Given the description of an element on the screen output the (x, y) to click on. 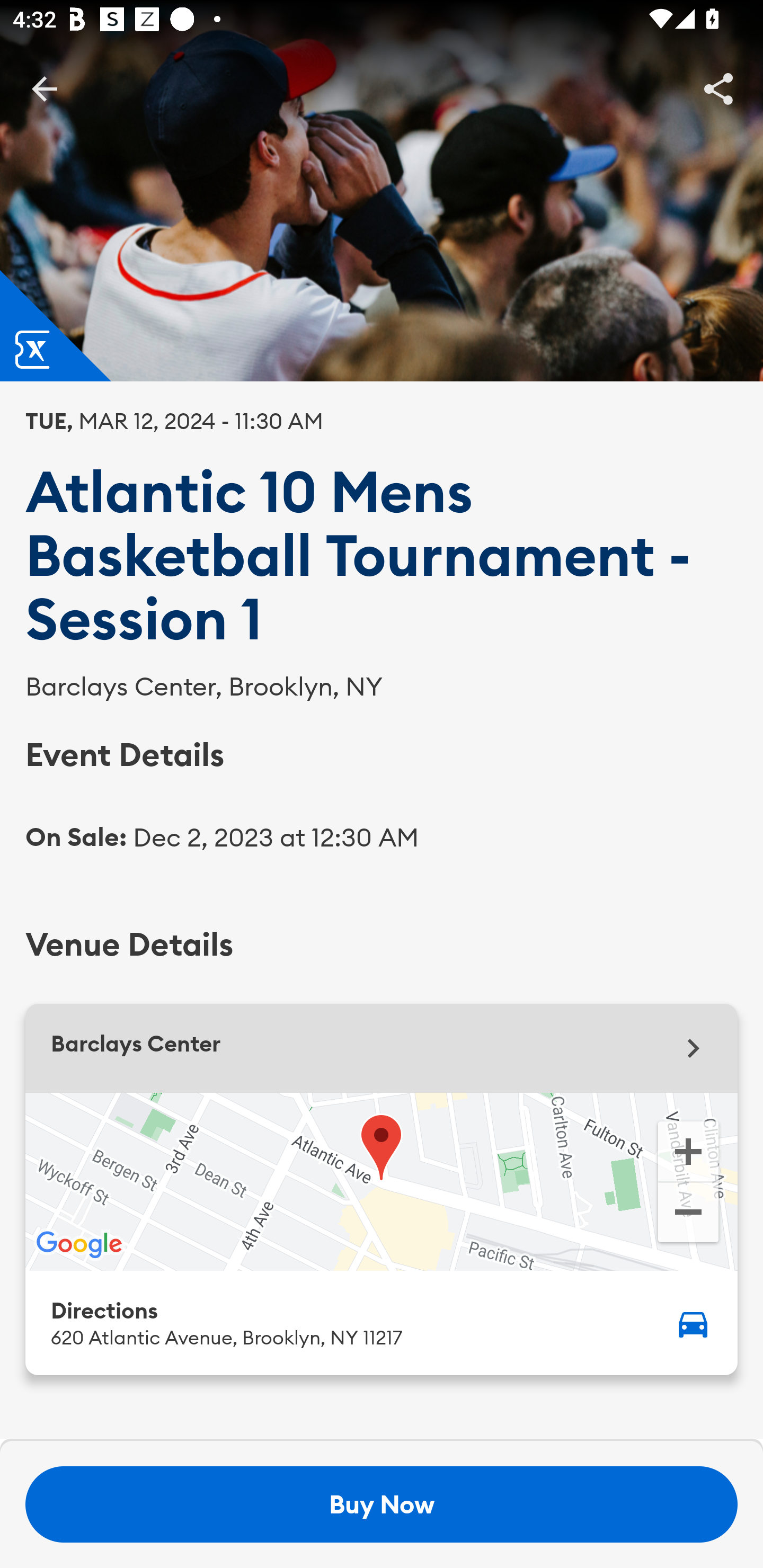
BackButton (44, 88)
Share (718, 88)
Barclays Center (381, 1047)
Google Map Barclays Center.  Zoom in Zoom out (381, 1181)
Zoom in (687, 1149)
Zoom out (687, 1214)
Directions 620 Atlantic Avenue, Brooklyn, NY 11217 (381, 1322)
Buy Now (381, 1504)
